Given the description of an element on the screen output the (x, y) to click on. 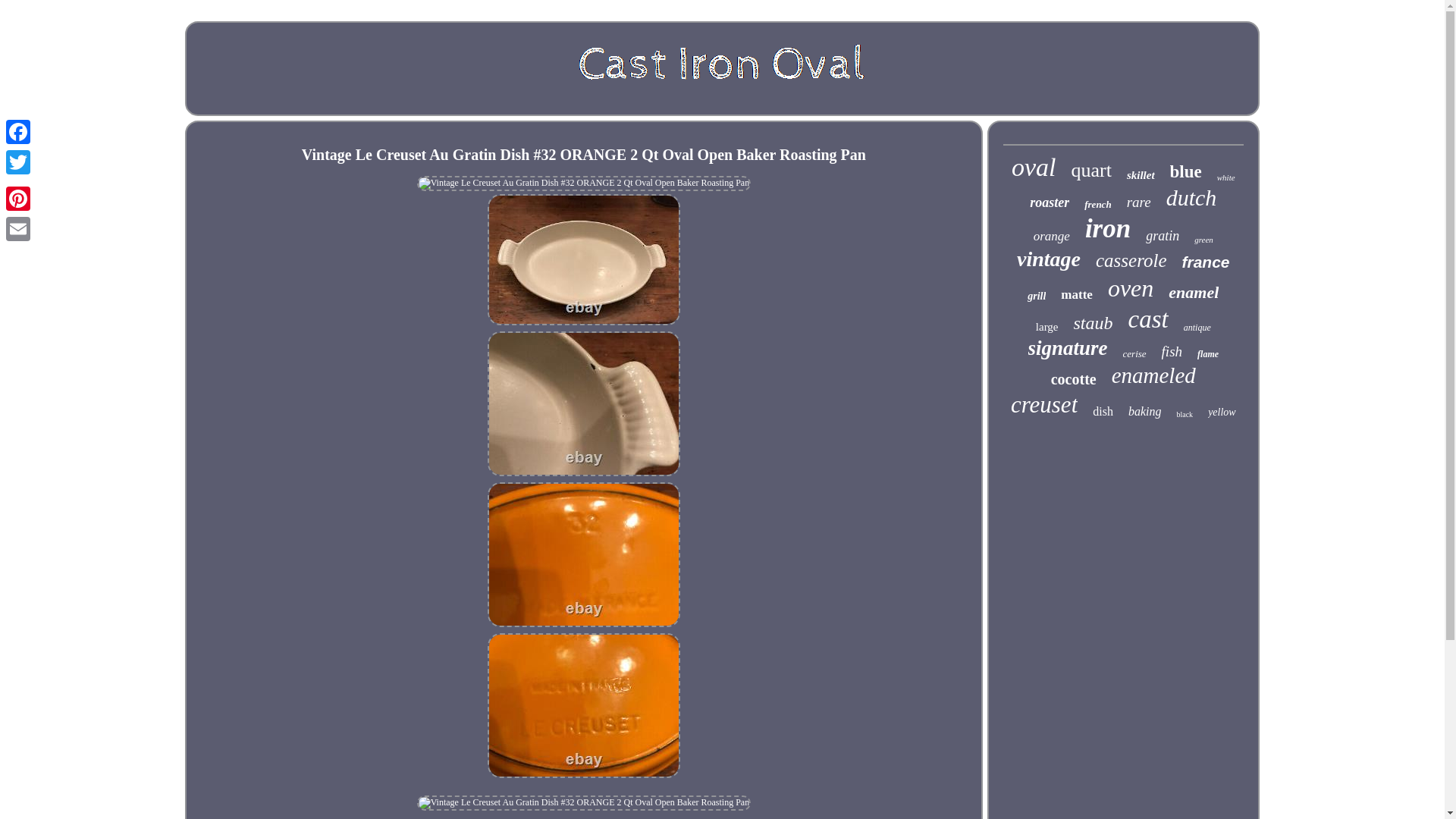
matte (1077, 294)
france (1204, 262)
flame (1207, 354)
roaster (1048, 202)
fish (1171, 351)
antique (1197, 327)
vintage (1048, 259)
staub (1093, 322)
gratin (1162, 236)
cast (1148, 319)
